Given the description of an element on the screen output the (x, y) to click on. 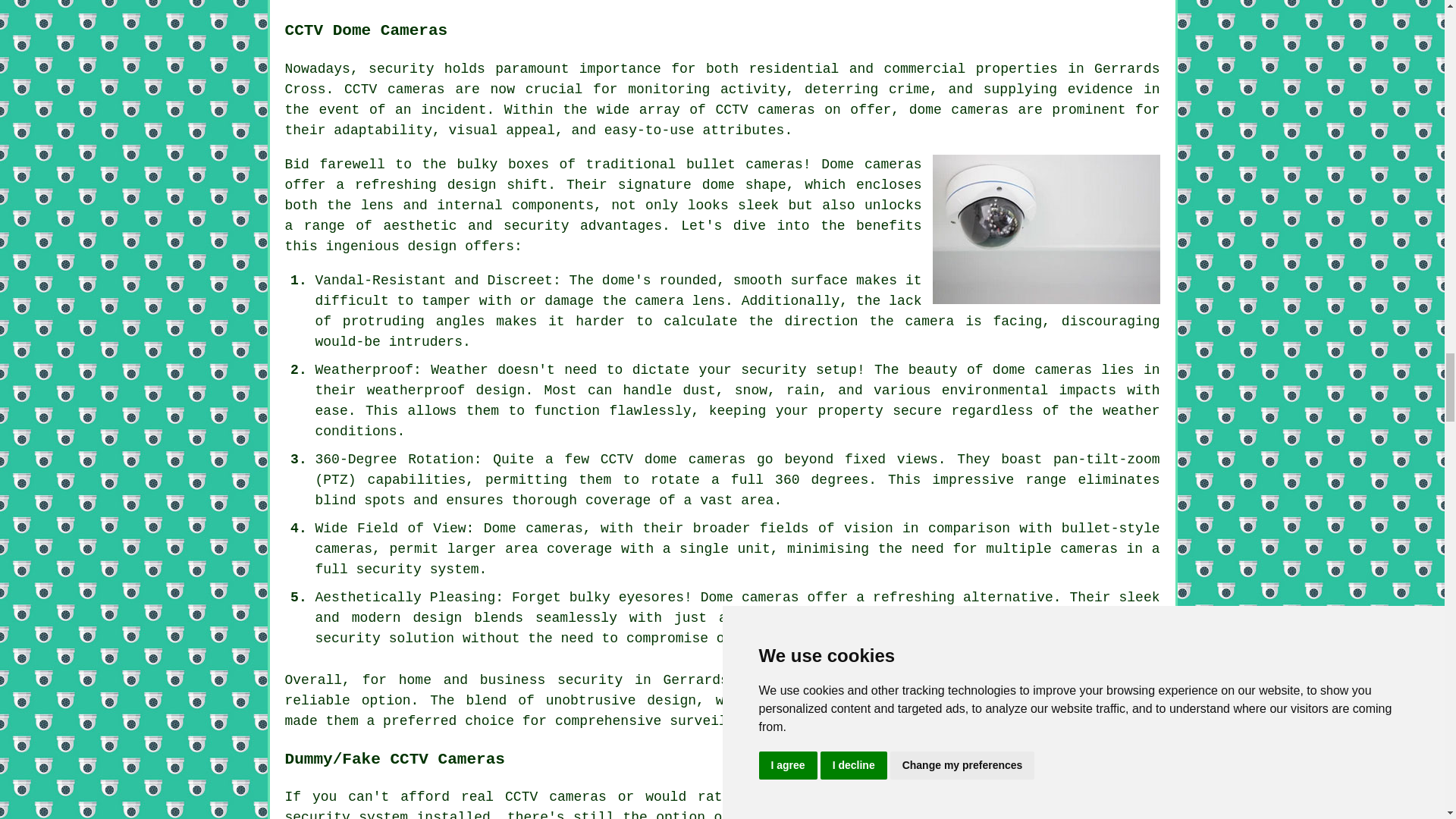
CCTV Dome Cameras Gerrards Cross (1046, 228)
dome cameras (897, 679)
security (400, 68)
